Given the description of an element on the screen output the (x, y) to click on. 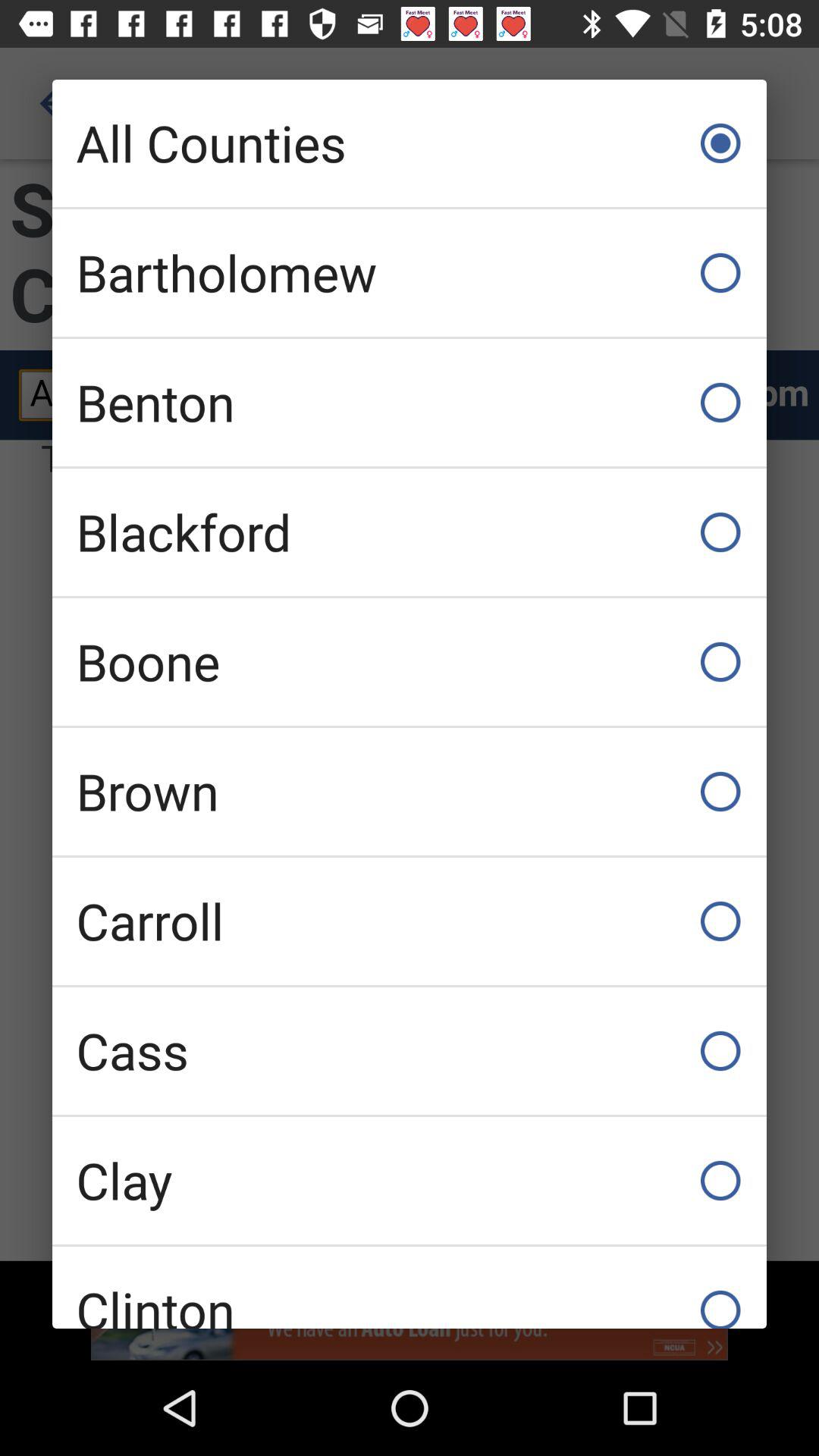
press icon above clinton (409, 1180)
